Given the description of an element on the screen output the (x, y) to click on. 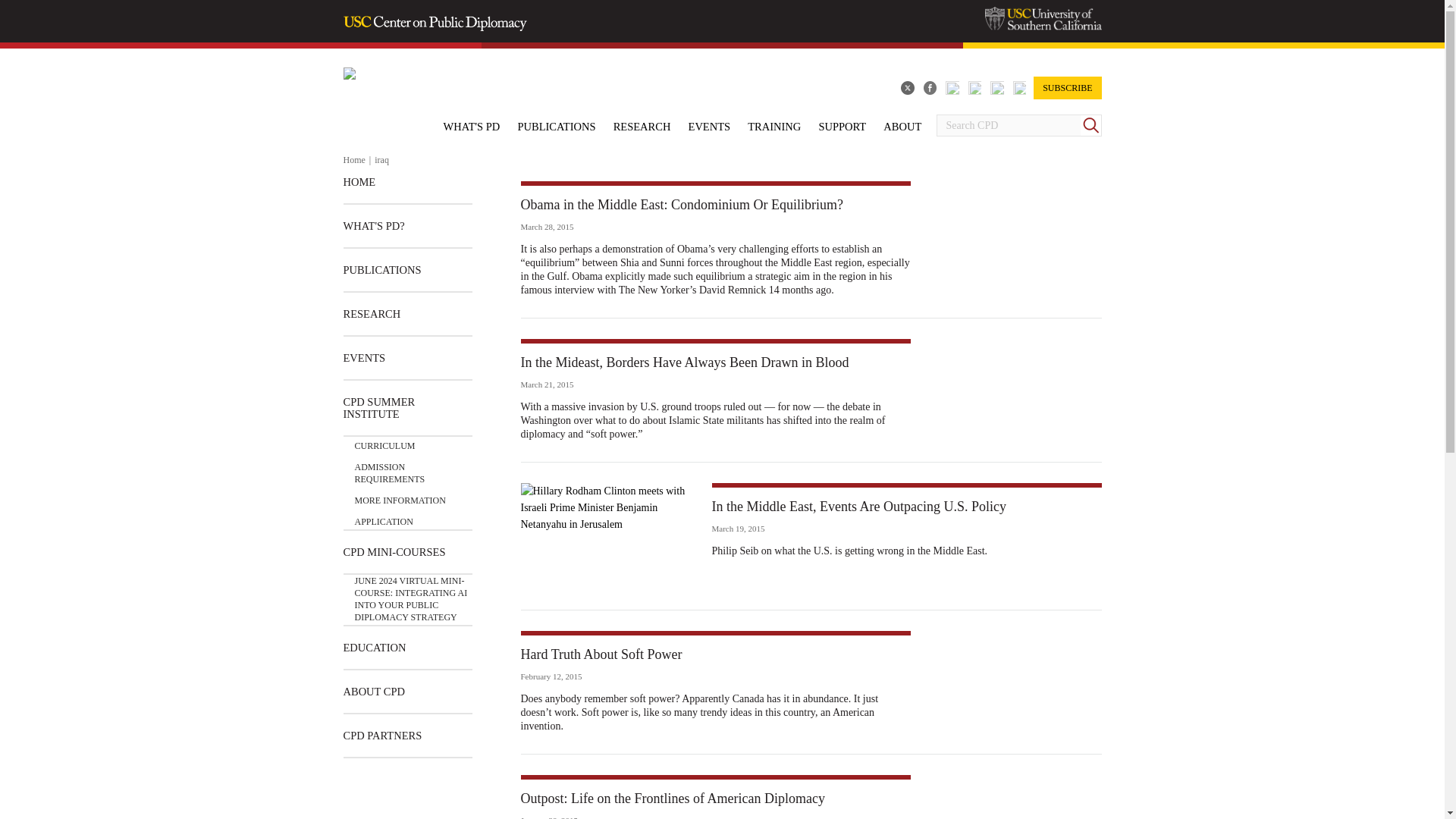
CPD MINI-COURSES (393, 551)
Home (353, 159)
Search CPD (1008, 125)
HOME (358, 189)
RESEARCH (642, 126)
ABOUT (902, 126)
SUPPORT (842, 126)
EVENTS (709, 126)
SUBSCRIBE (1066, 87)
